Given the description of an element on the screen output the (x, y) to click on. 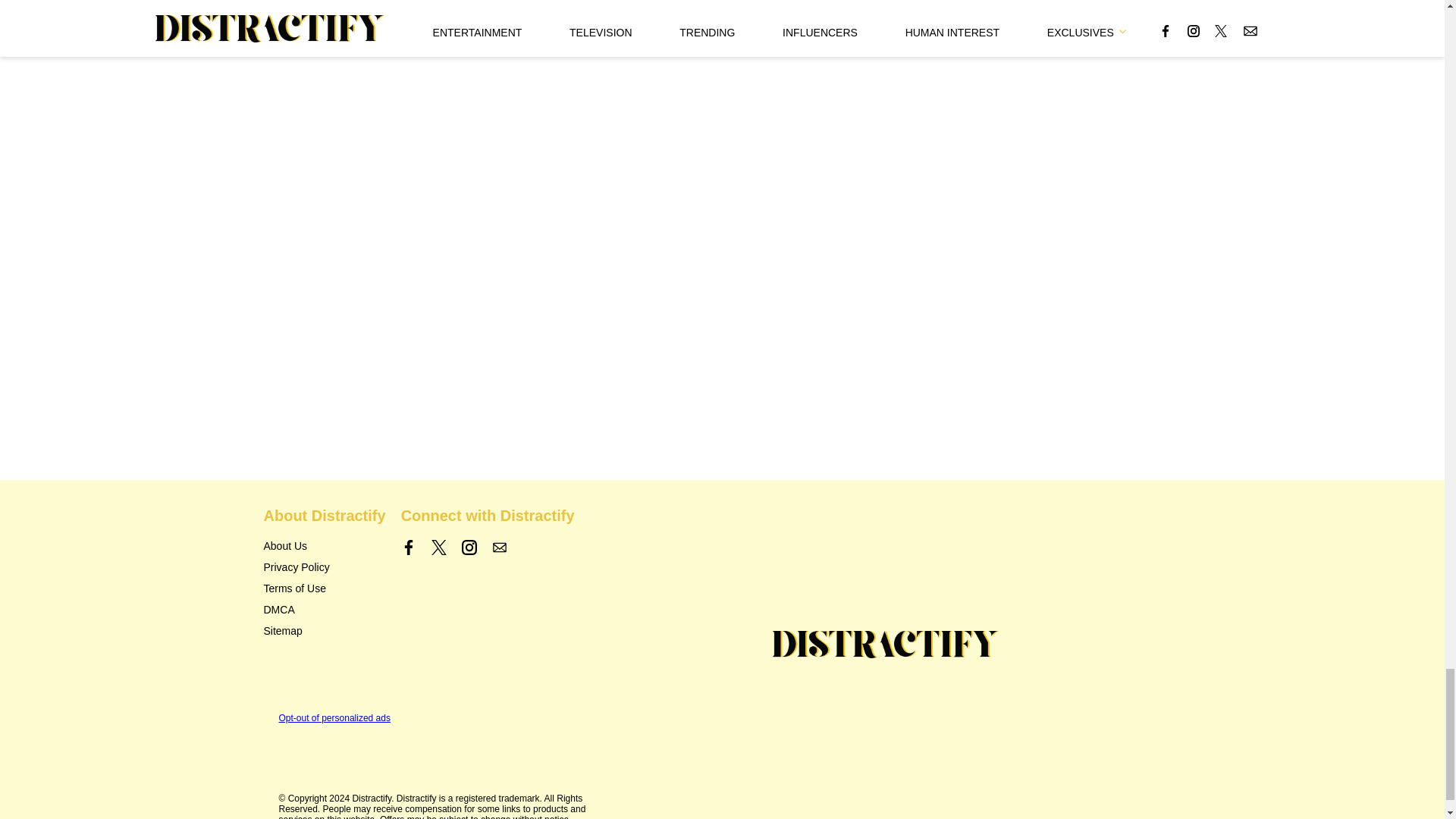
DMCA (279, 609)
About Us (285, 545)
Link to Facebook (408, 547)
Privacy Policy (296, 567)
Contact us by Email (499, 547)
Link to Instagram (469, 547)
Link to X (438, 547)
Sitemap (282, 630)
Terms of Use (294, 588)
